Given the description of an element on the screen output the (x, y) to click on. 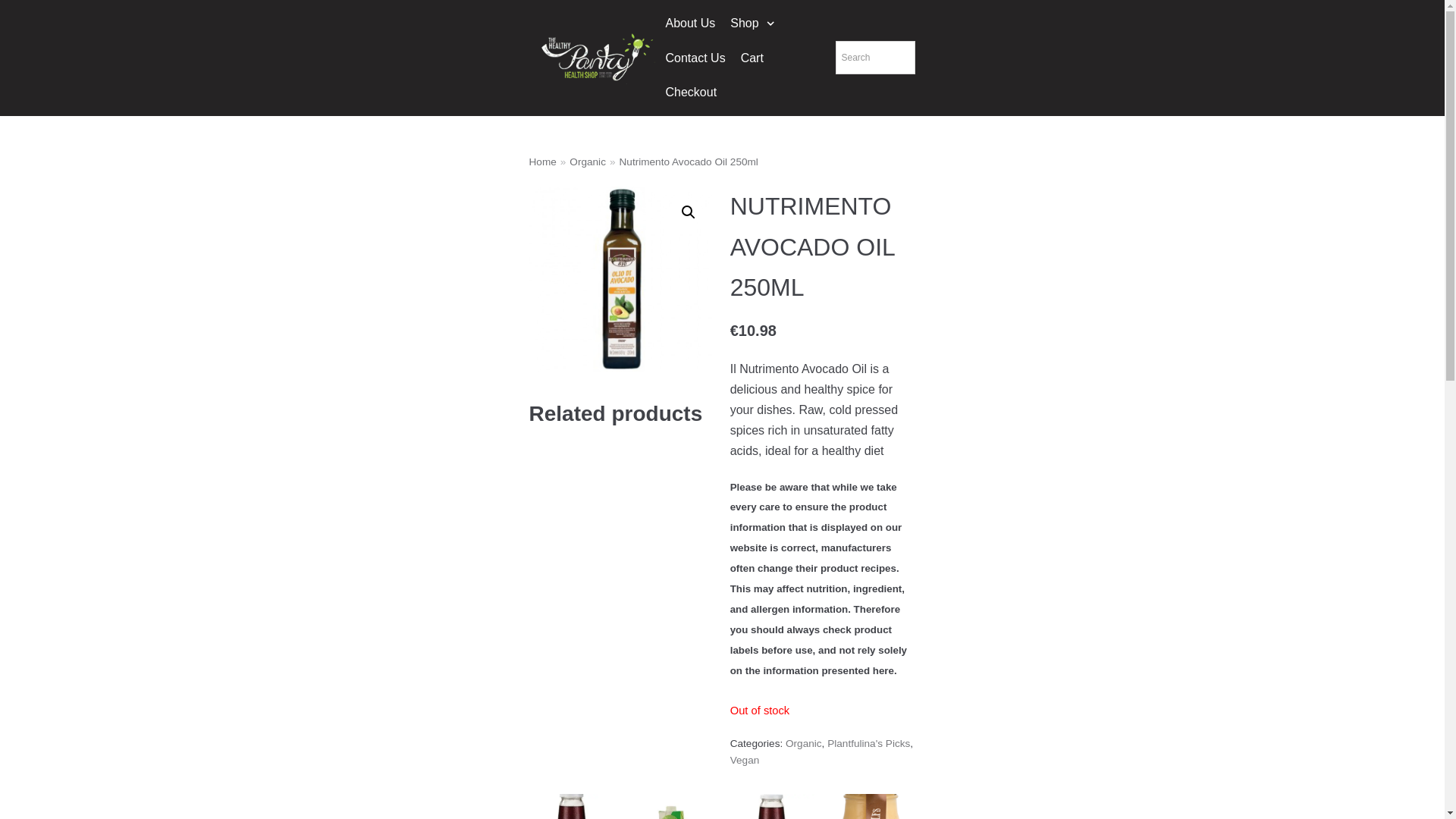
The Healthy Pantry (593, 58)
Skip to content (15, 31)
Checkout (690, 92)
About Us (689, 23)
Shop (753, 23)
Il Nutrimento Avocado Oil (621, 279)
Cart (751, 57)
Contact Us (695, 57)
